Given the description of an element on the screen output the (x, y) to click on. 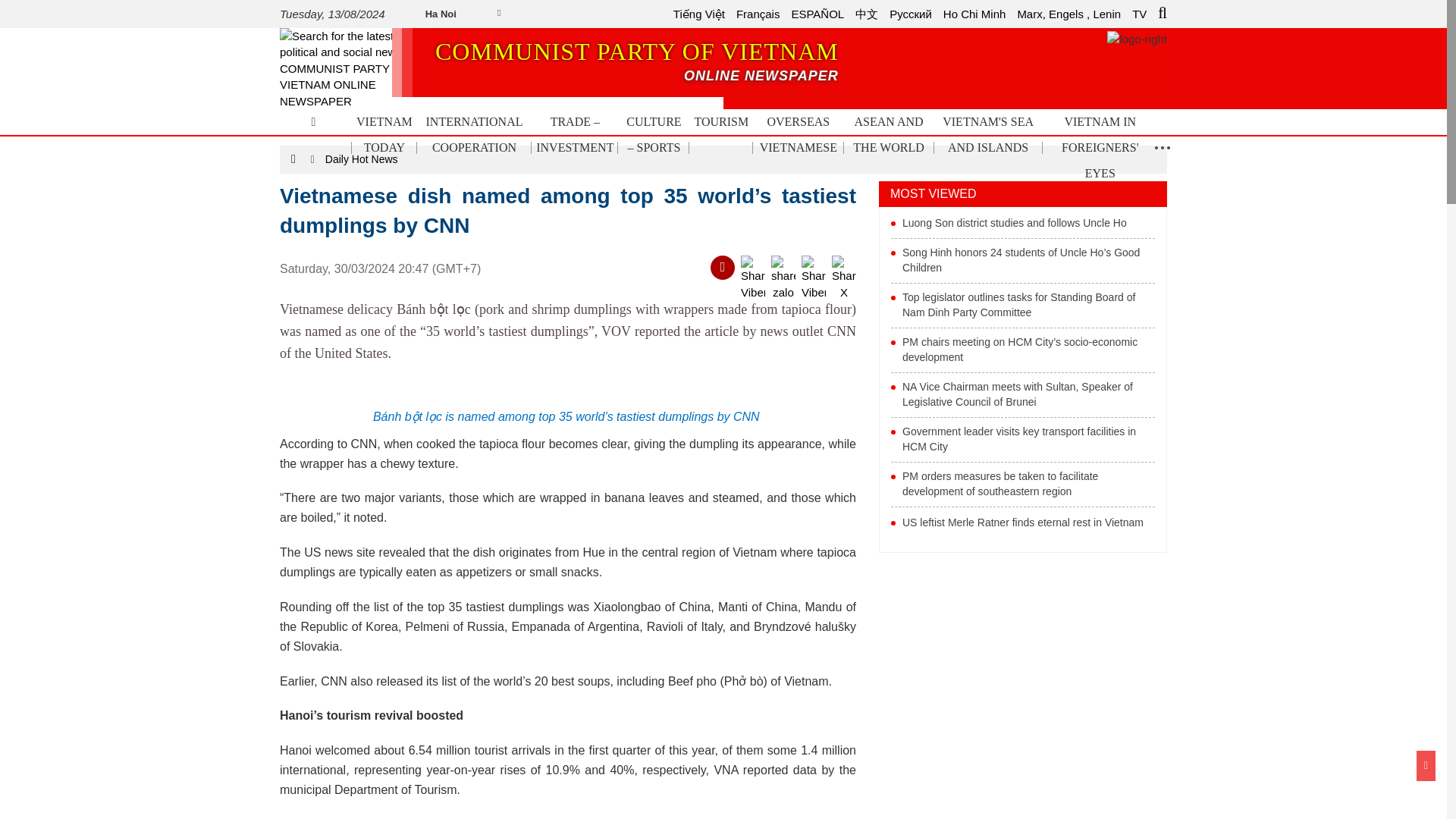
TV (1139, 13)
Ho Chi Minh (974, 13)
VIETNAM IN FOREIGNERS' EYES (1099, 147)
Marx, Engels , Lenin (1068, 13)
Ho Chi Minh (974, 13)
INTERNATIONAL COOPERATION (473, 134)
TV (634, 62)
Vietnam s sea and islands (1139, 13)
Vietnam today (988, 134)
